Given the description of an element on the screen output the (x, y) to click on. 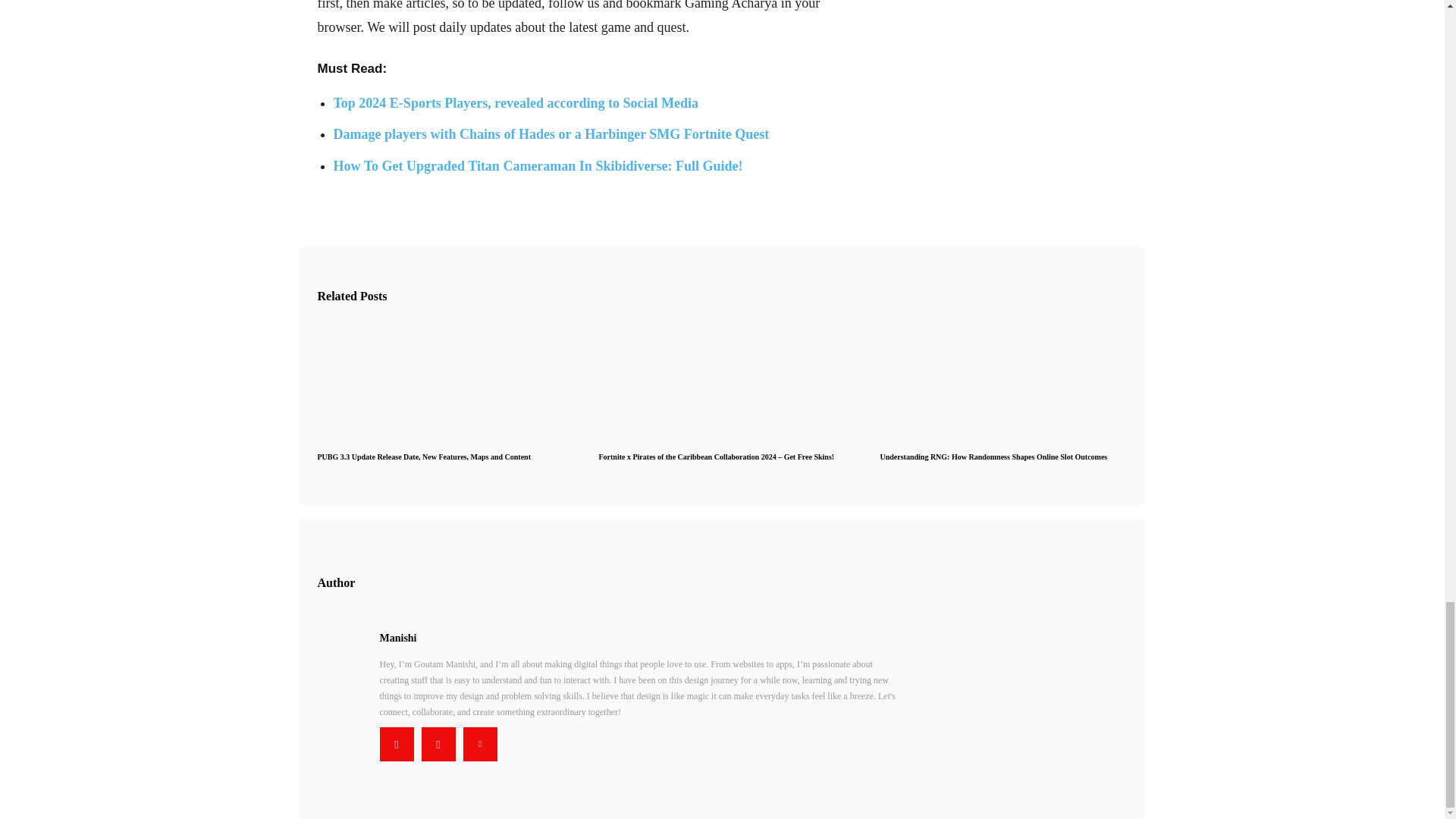
PUBG 3.3 Update Release Date, New Features, Maps and Content (423, 456)
Manishi (638, 637)
